Given the description of an element on the screen output the (x, y) to click on. 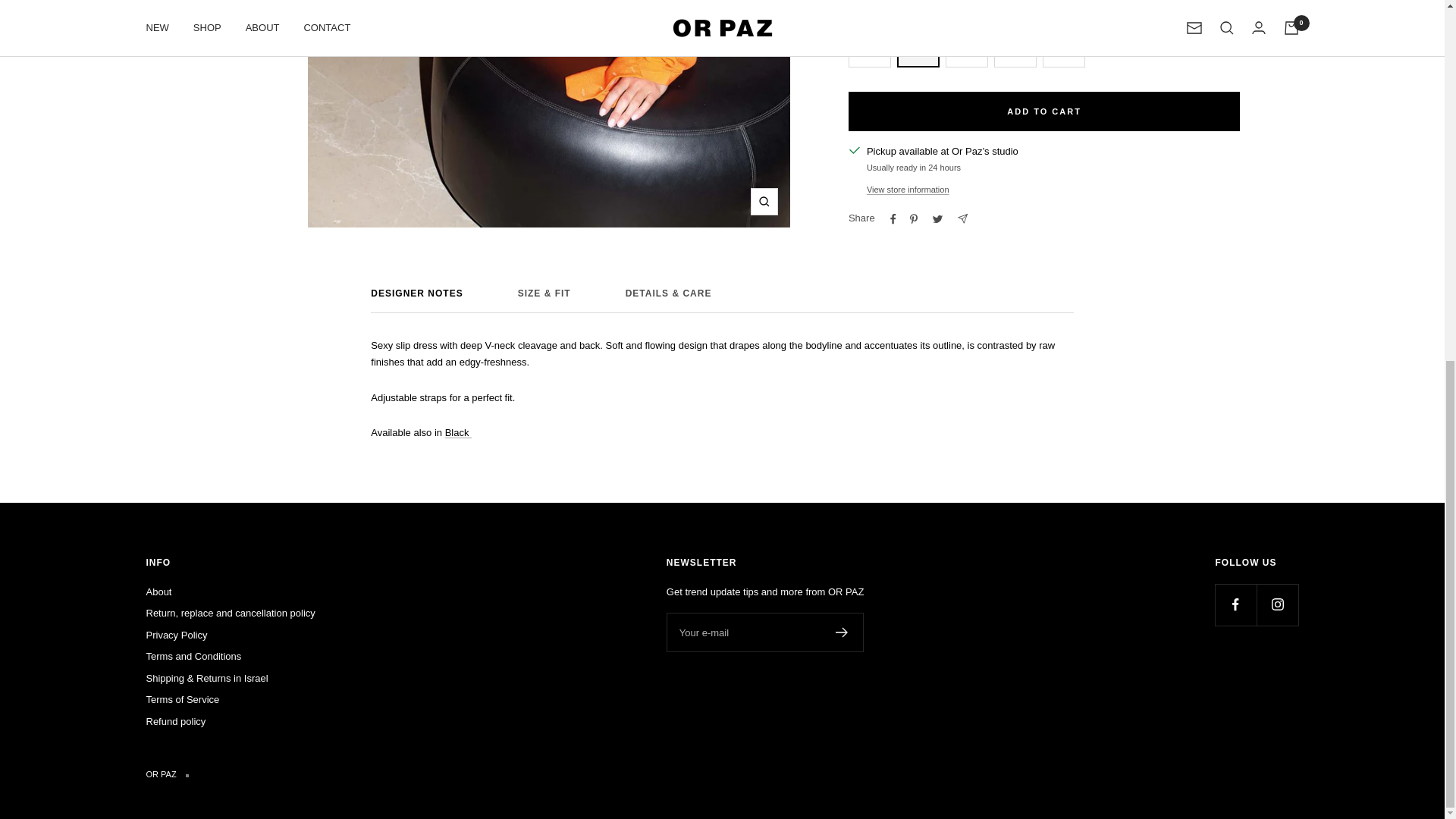
Zoom (764, 201)
Register (841, 632)
Black (458, 432)
